Given the description of an element on the screen output the (x, y) to click on. 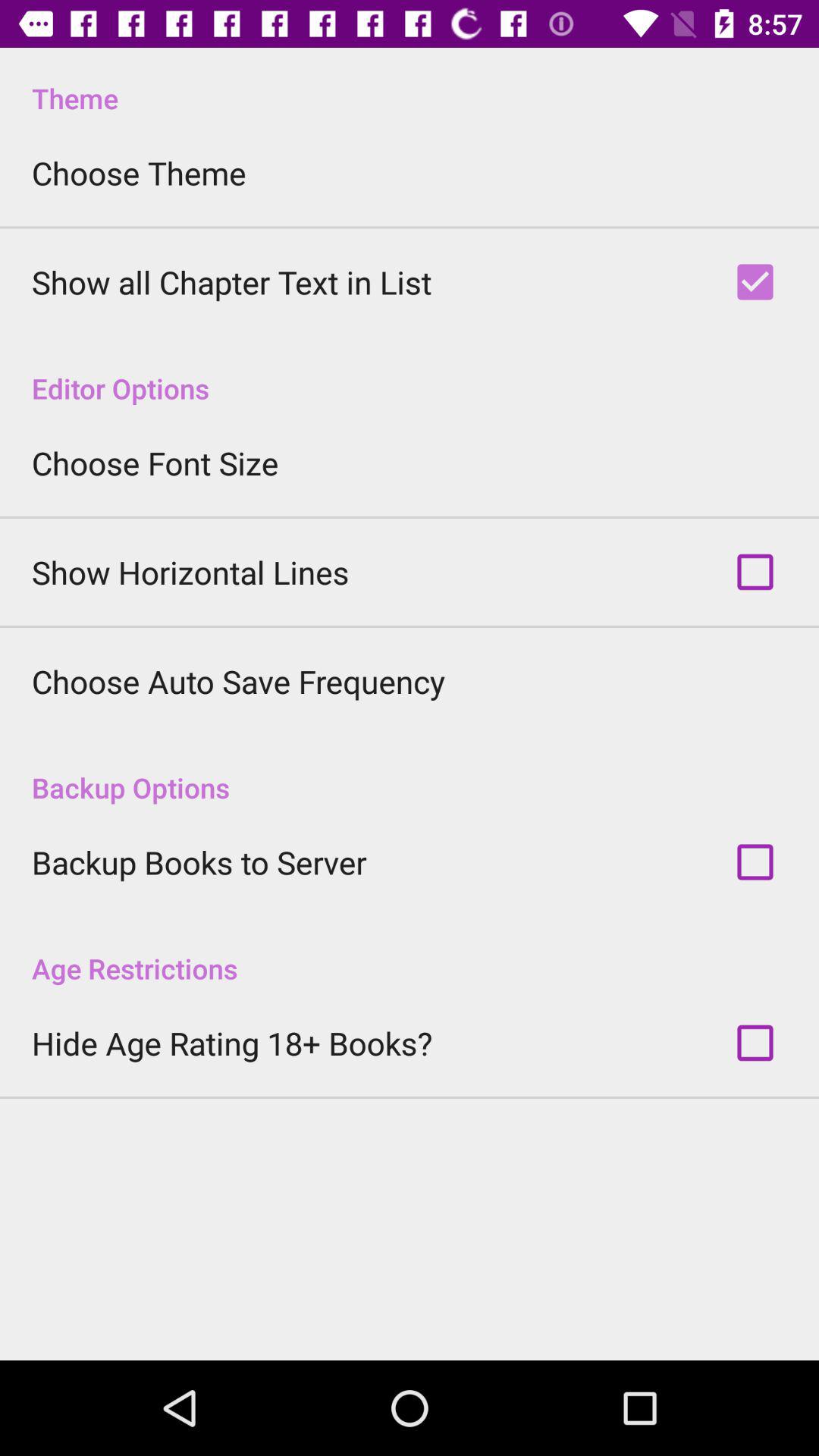
swipe until choose theme app (138, 172)
